Given the description of an element on the screen output the (x, y) to click on. 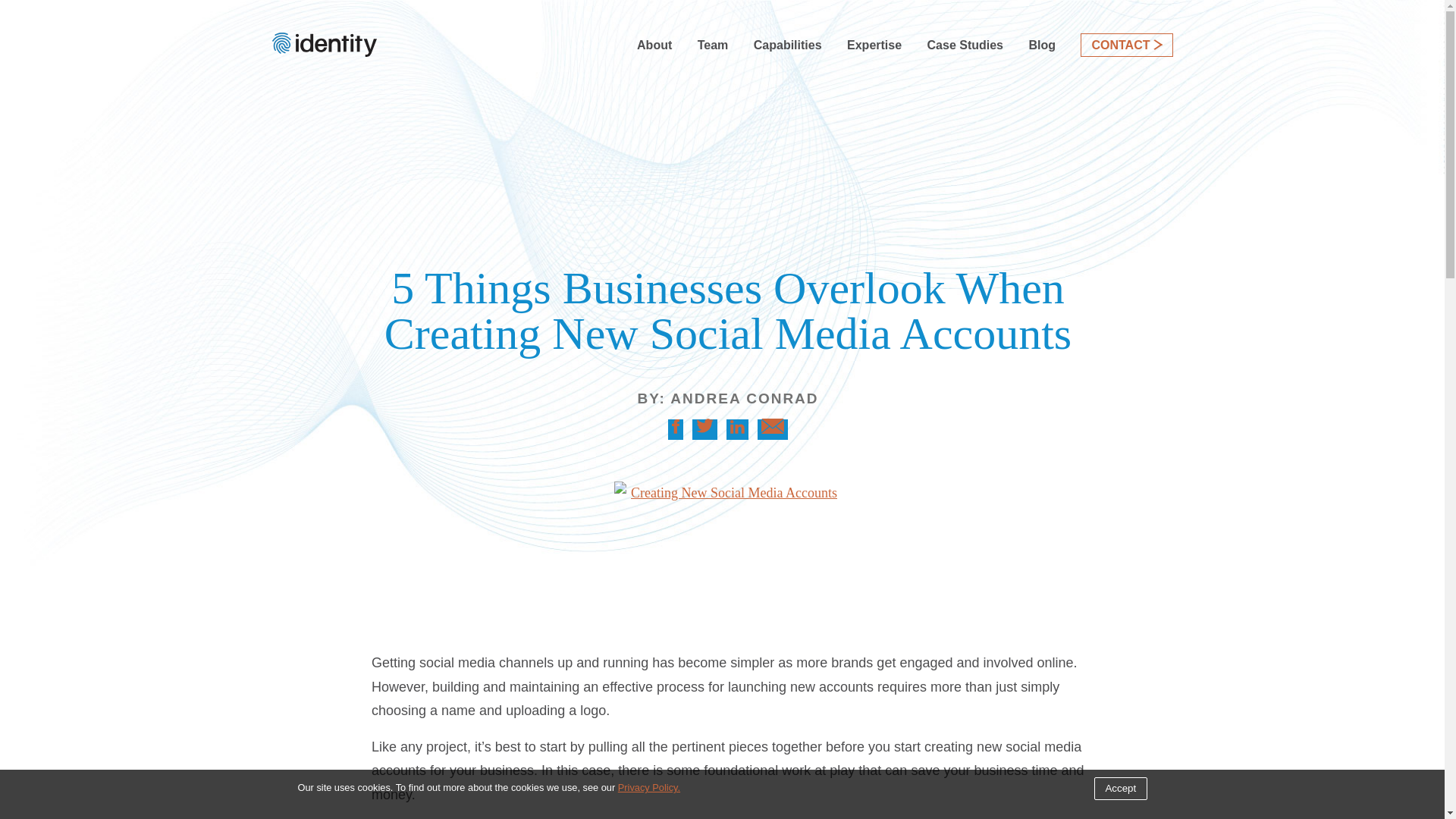
About (654, 44)
Team (713, 44)
Identity - Home (322, 51)
Blog (1041, 44)
Case Studies (965, 44)
CONTACT (1126, 44)
Capabilities (788, 44)
Expertise (874, 44)
